Given the description of an element on the screen output the (x, y) to click on. 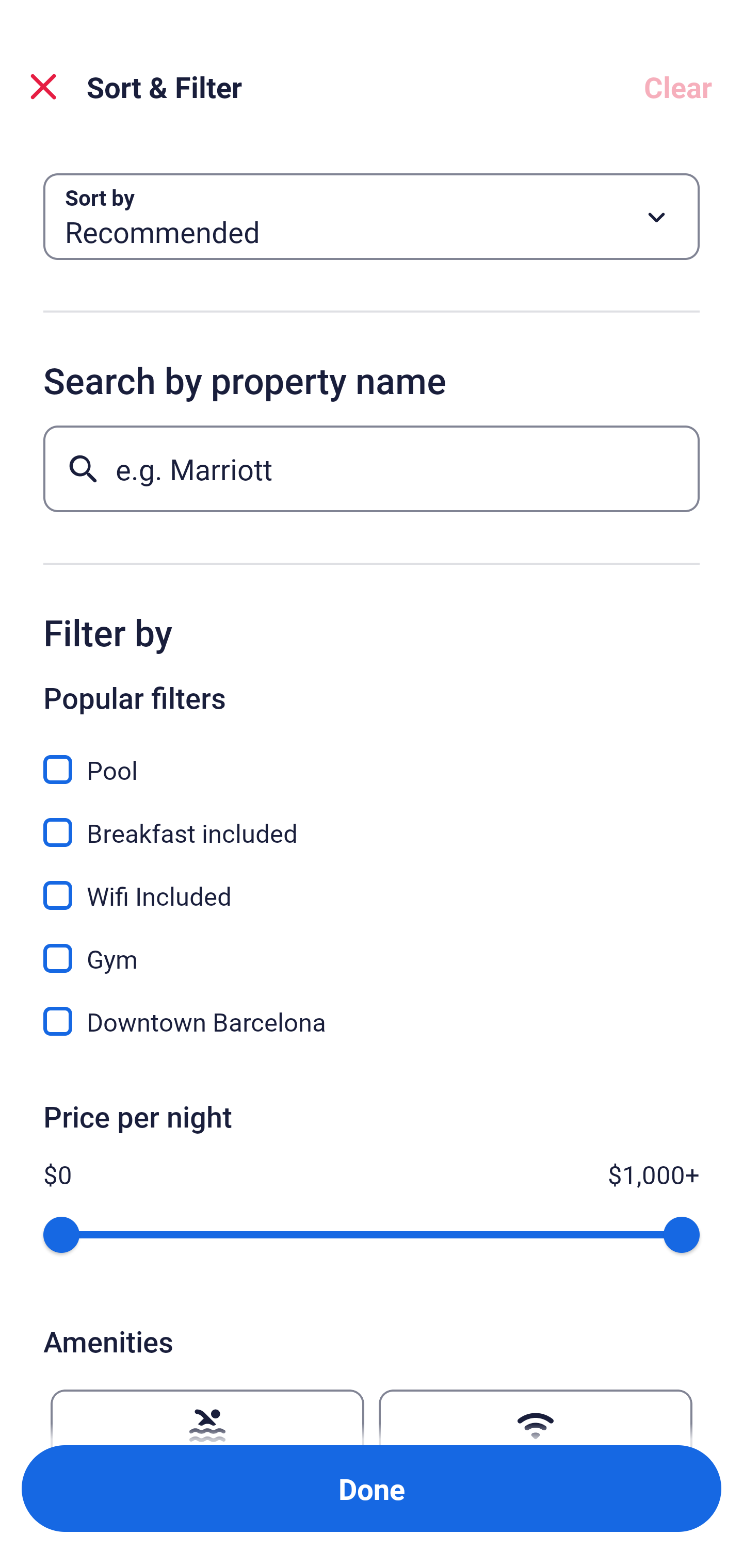
Close Sort and Filter (43, 86)
Clear (677, 86)
Sort by Button Recommended (371, 217)
e.g. Marriott Button (371, 468)
Pool, Pool (371, 757)
Breakfast included, Breakfast included (371, 821)
Wifi Included, Wifi Included (371, 883)
Gym, Gym (371, 946)
Downtown Barcelona, Downtown Barcelona (371, 1021)
Apply and close Sort and Filter Done (371, 1488)
